Given the description of an element on the screen output the (x, y) to click on. 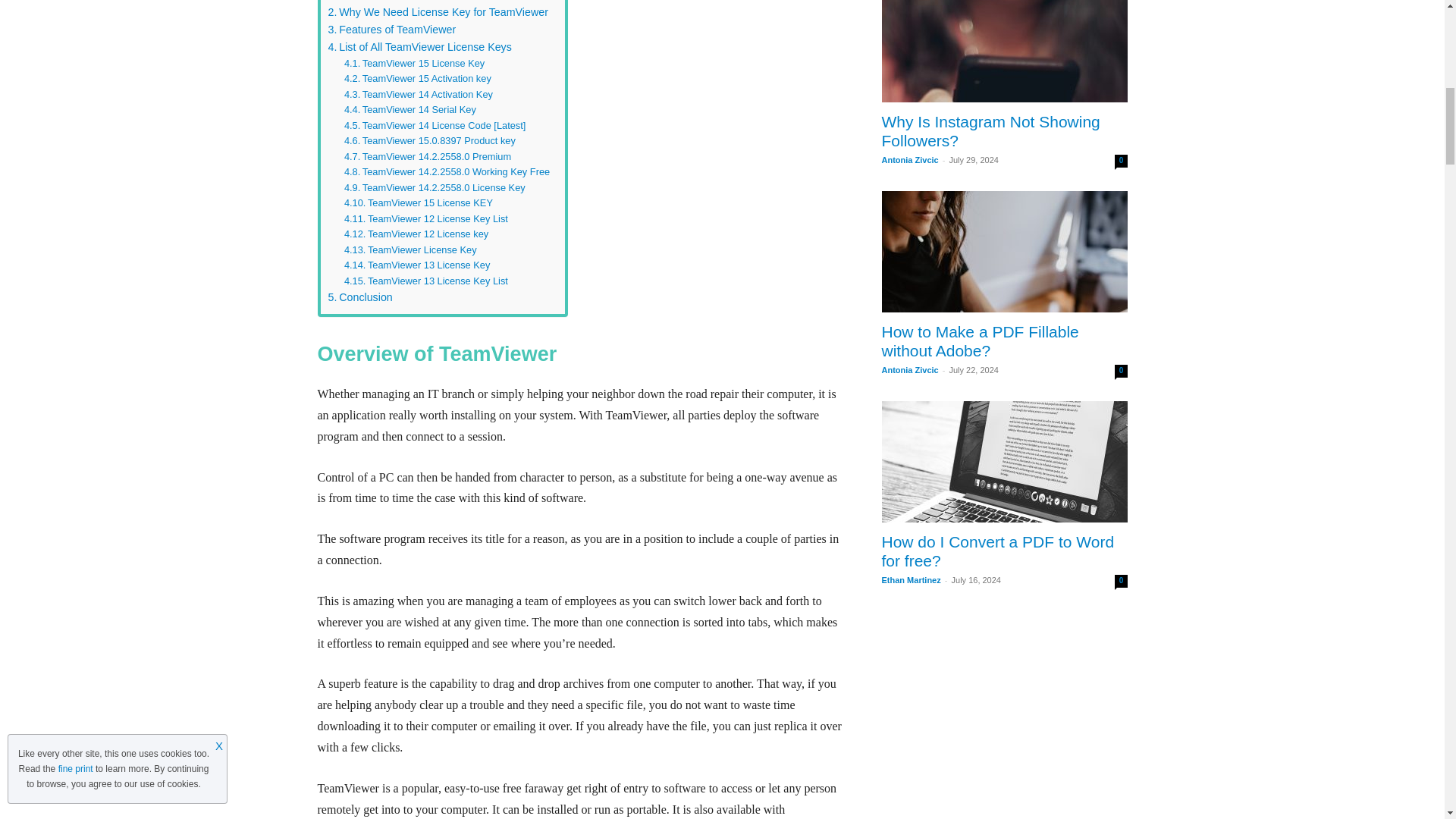
Why We Need License Key for TeamViewer (437, 12)
Overview of TeamViewer (392, 2)
List of All TeamViewer License Keys (419, 47)
Features of TeamViewer (391, 29)
TeamViewer 15 Activation key (417, 78)
TeamViewer 14 Serial Key (409, 109)
TeamViewer 15.0.8397 Product key (409, 109)
